Given the description of an element on the screen output the (x, y) to click on. 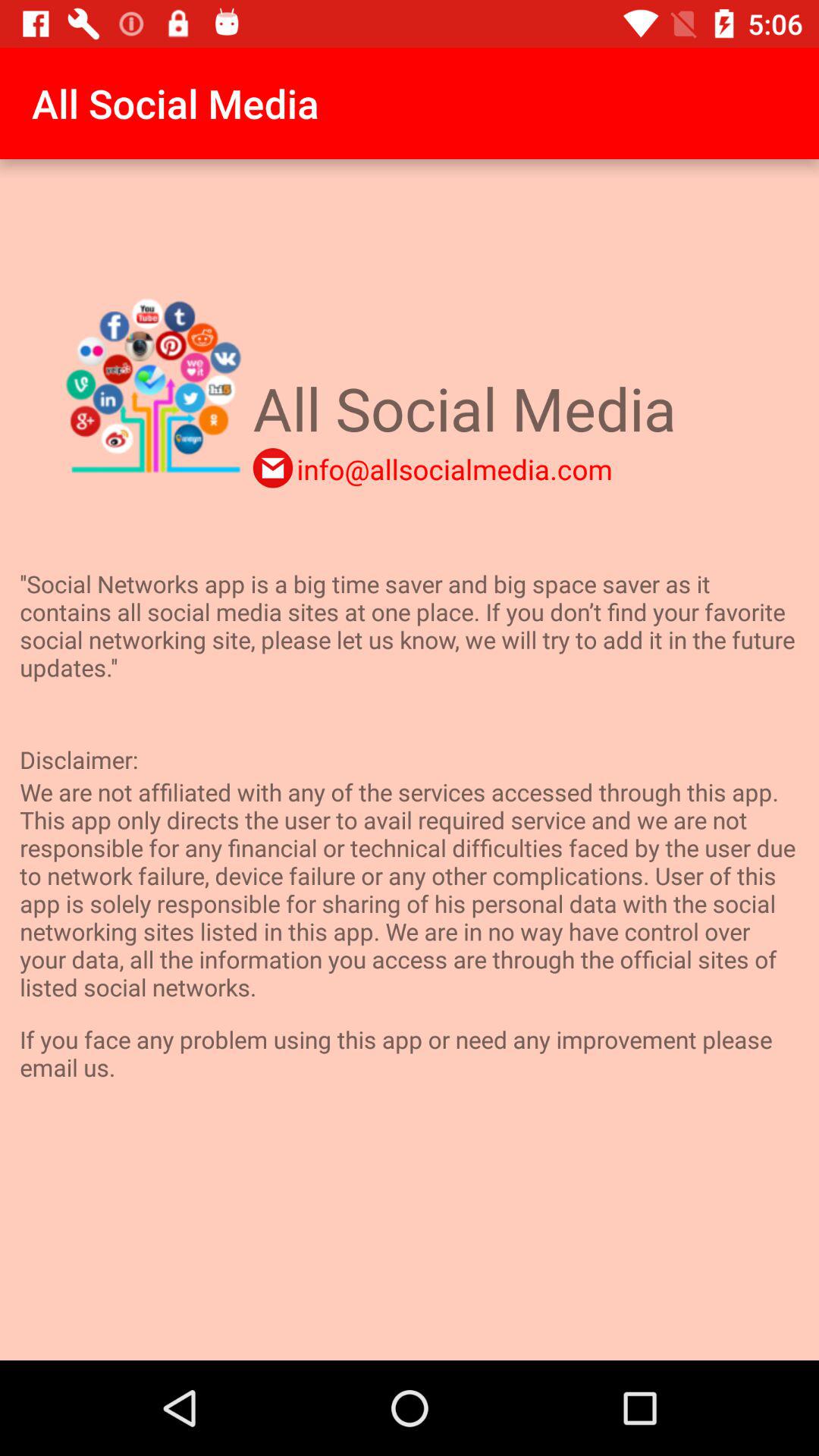
press info@allsocialmedia.com item (454, 468)
